Given the description of an element on the screen output the (x, y) to click on. 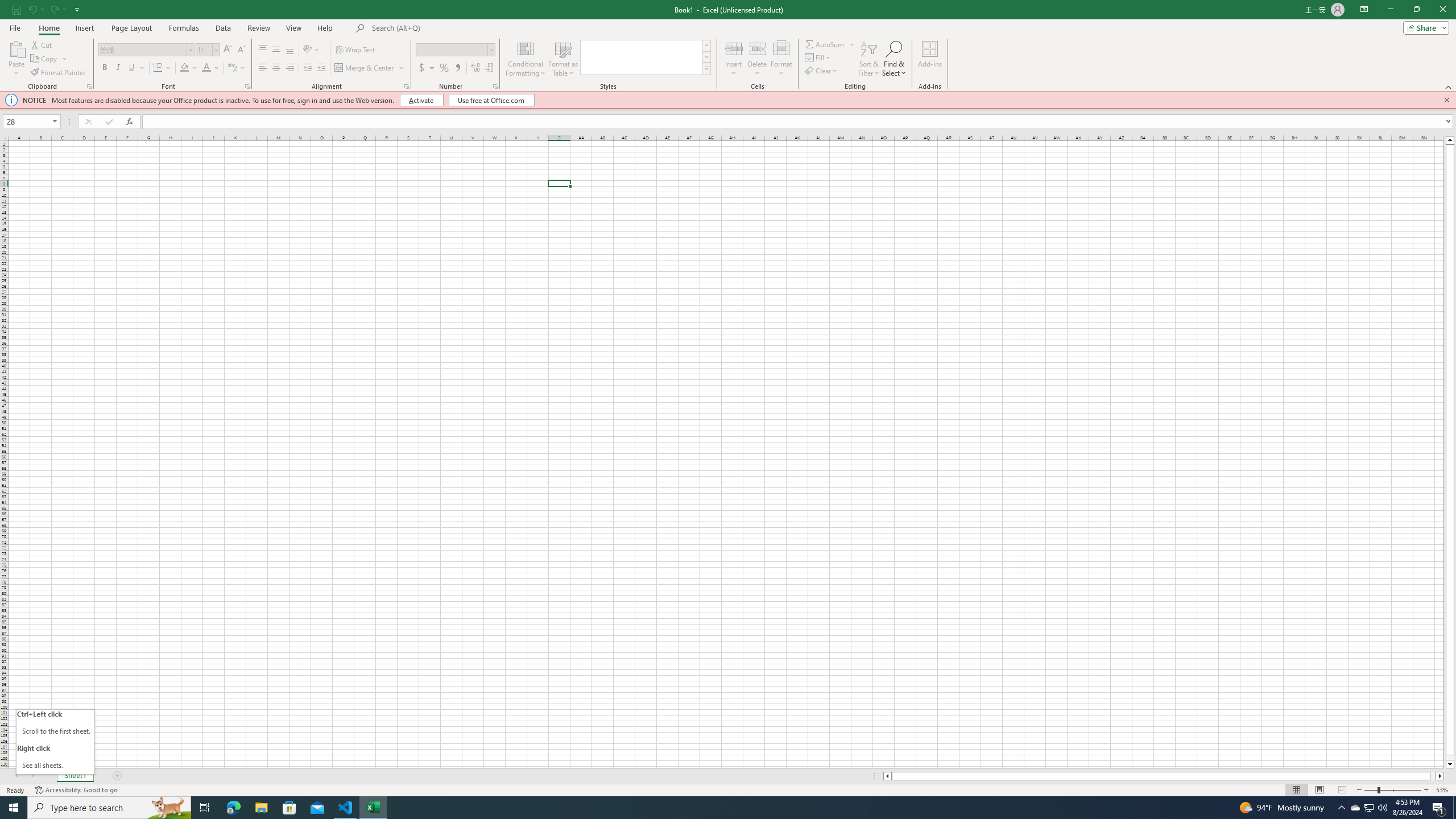
Zoom In (1426, 790)
System (6, 6)
Middle Align (276, 49)
Line up (1449, 139)
Redo (57, 9)
Center (276, 67)
Save (16, 9)
Delete (757, 58)
Copy (49, 58)
Format Cell Alignment (405, 85)
Insert (83, 28)
Formulas (184, 28)
Home (48, 28)
AutomationID: CellStylesGallery (645, 57)
Review (258, 28)
